Given the description of an element on the screen output the (x, y) to click on. 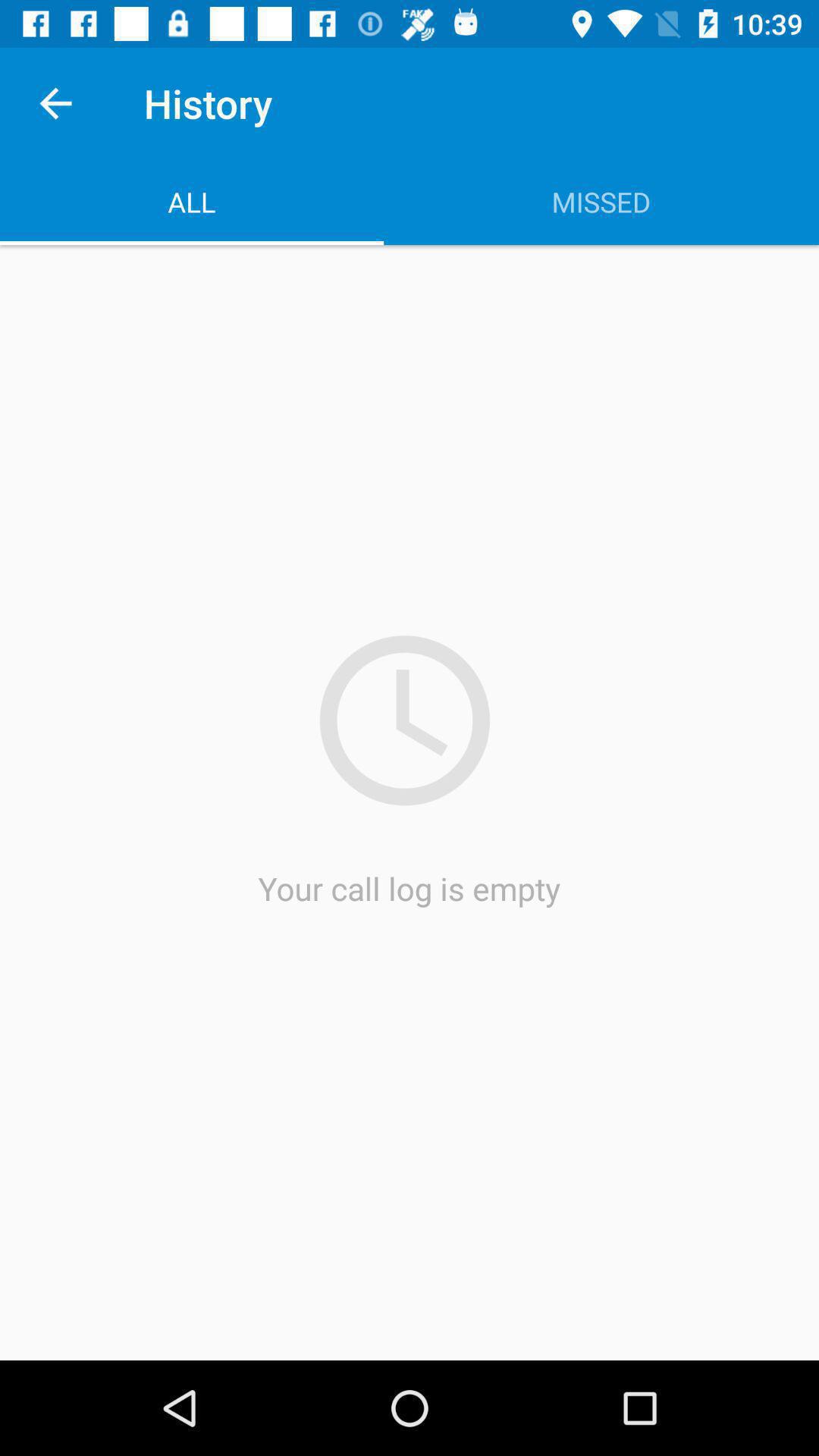
turn on the app at the top right corner (601, 202)
